Given the description of an element on the screen output the (x, y) to click on. 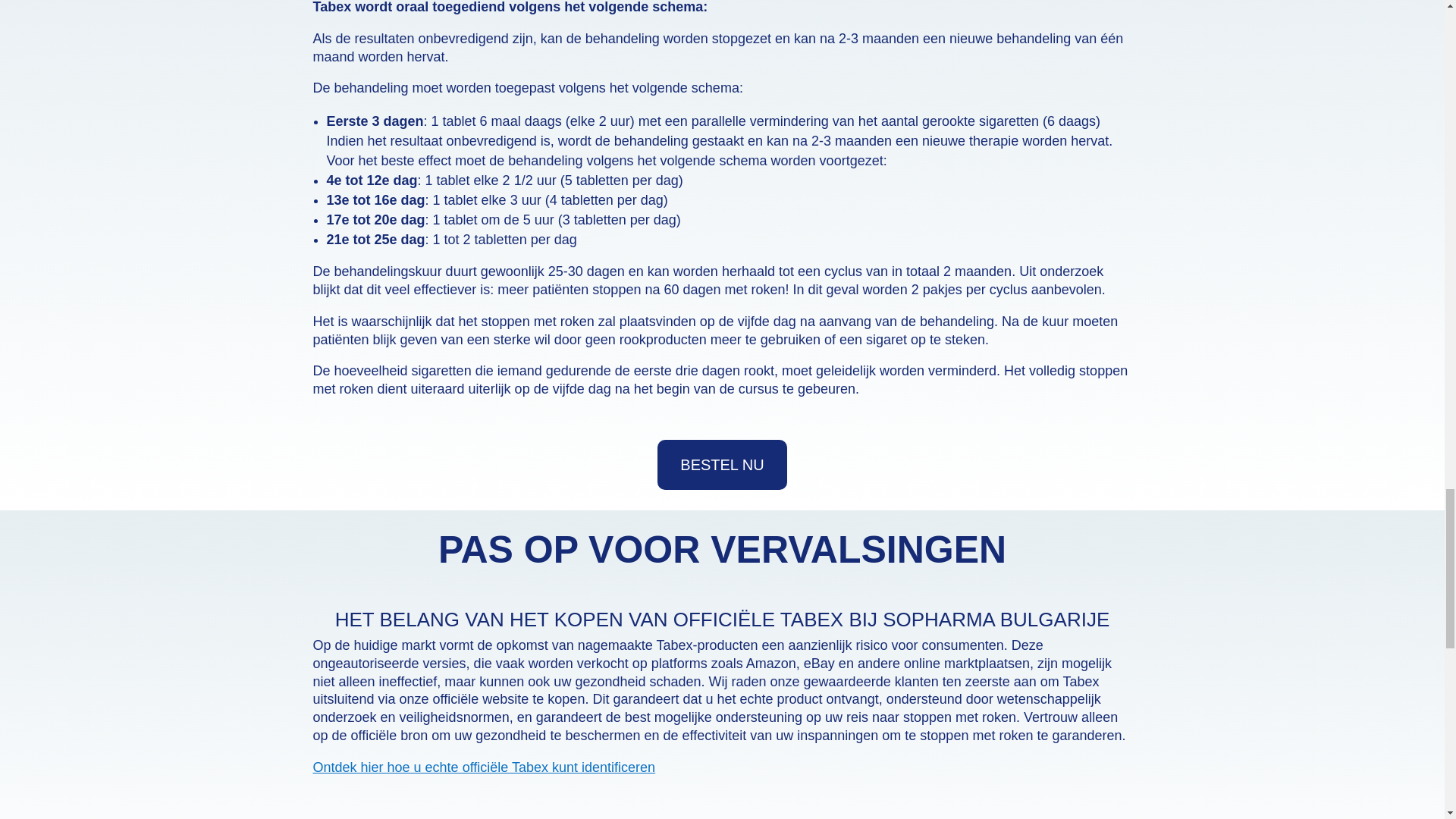
BESTEL NU (722, 464)
